Given the description of an element on the screen output the (x, y) to click on. 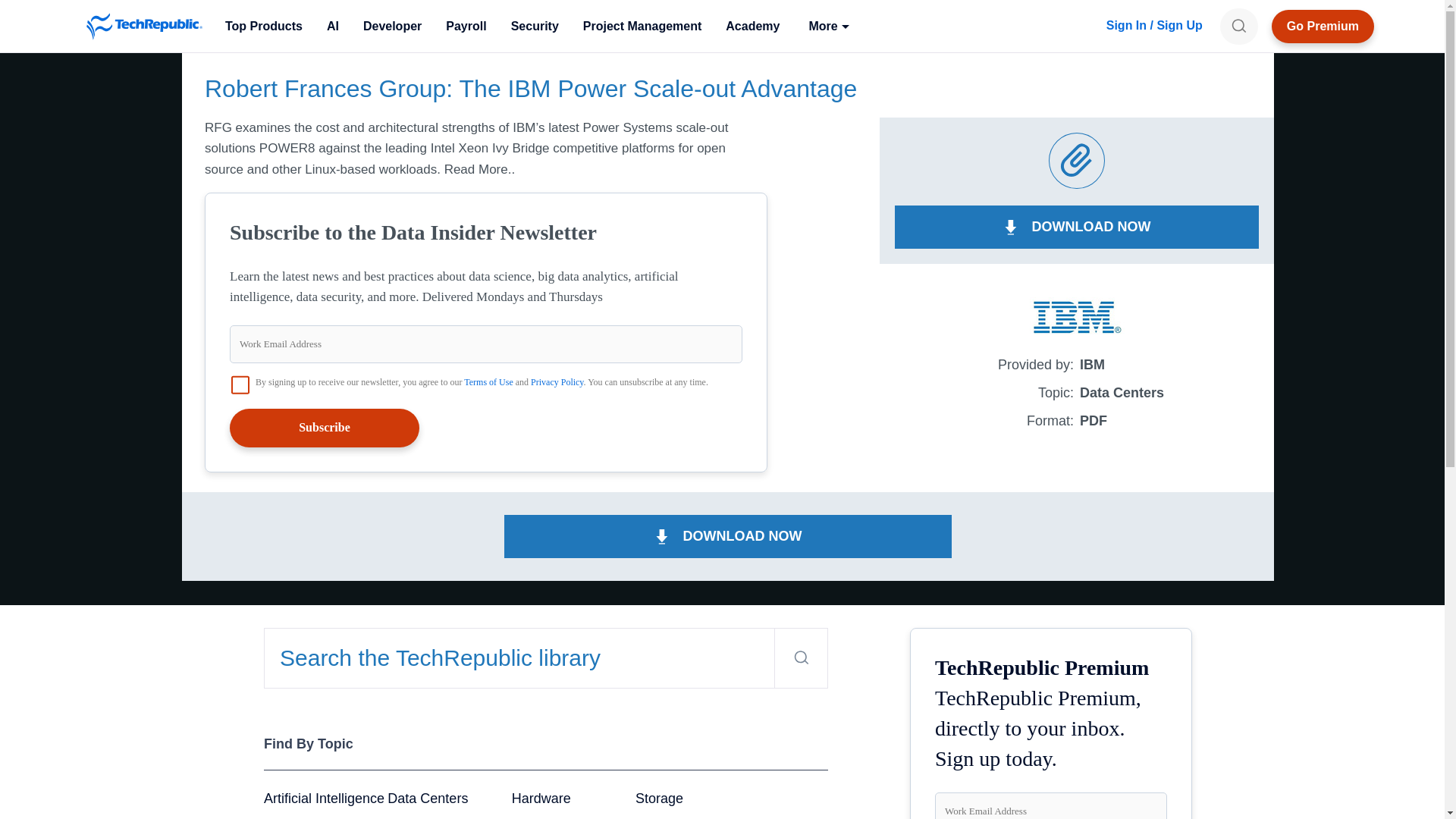
DOWNLOAD NOW (1077, 226)
TechRepublic Premium (1322, 25)
Top Products (263, 26)
Subscribe (324, 427)
Project Management (641, 26)
Terms of Use (488, 381)
TechRepublic (143, 25)
Privacy Policy (557, 381)
Developer (392, 26)
Payroll (465, 26)
